Given the description of an element on the screen output the (x, y) to click on. 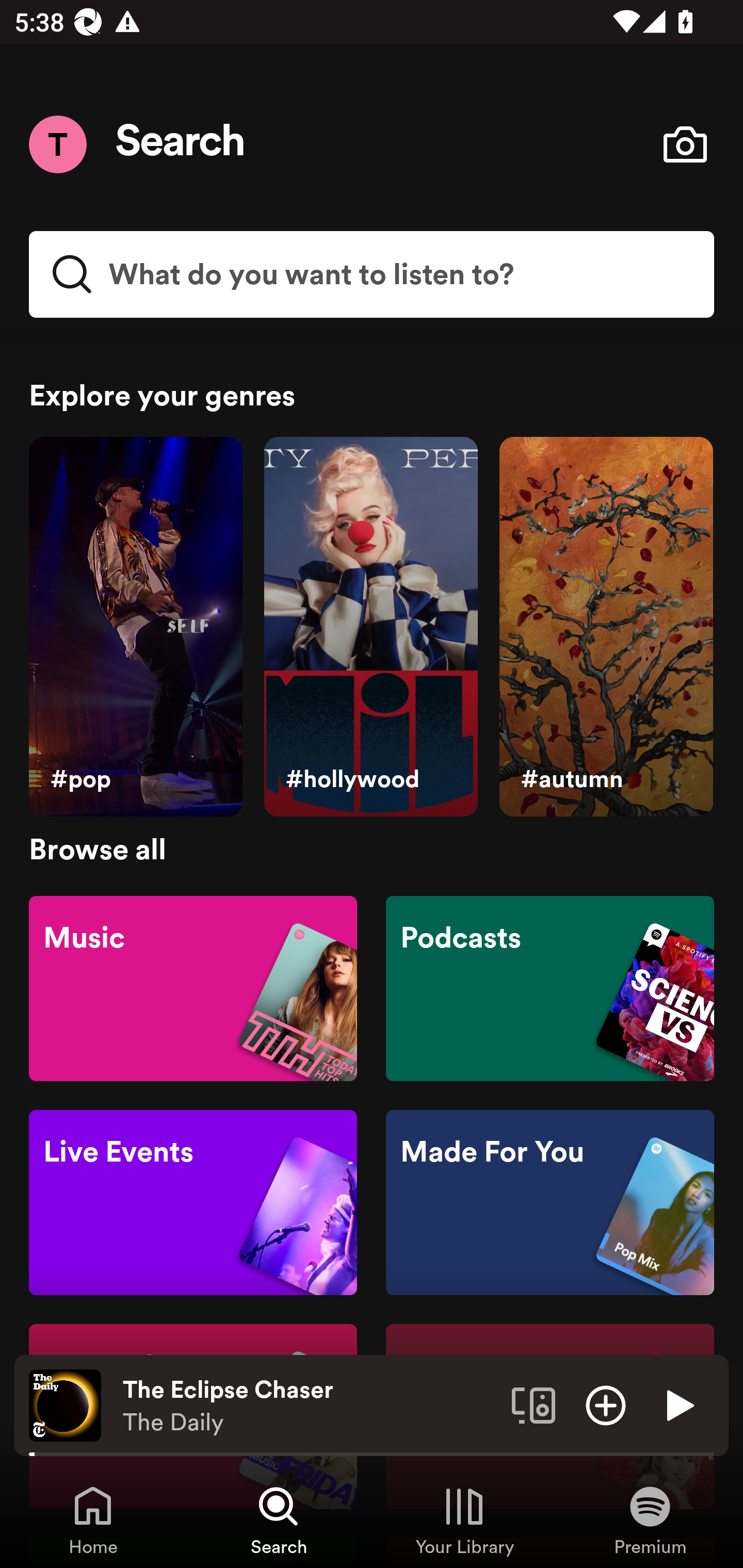
Menu (57, 144)
Open camera (685, 145)
Search (180, 144)
#pop (135, 626)
#hollywood (370, 626)
#autumn (606, 626)
Music (192, 987)
Podcasts (549, 987)
Live Events (192, 1202)
Made For You (549, 1202)
The Eclipse Chaser The Daily (309, 1405)
The cover art of the currently playing track (64, 1404)
Connect to a device. Opens the devices menu (533, 1404)
Add item (605, 1404)
Play (677, 1404)
Home, Tab 1 of 4 Home Home (92, 1519)
Search, Tab 2 of 4 Search Search (278, 1519)
Your Library, Tab 3 of 4 Your Library Your Library (464, 1519)
Premium, Tab 4 of 4 Premium Premium (650, 1519)
